Given the description of an element on the screen output the (x, y) to click on. 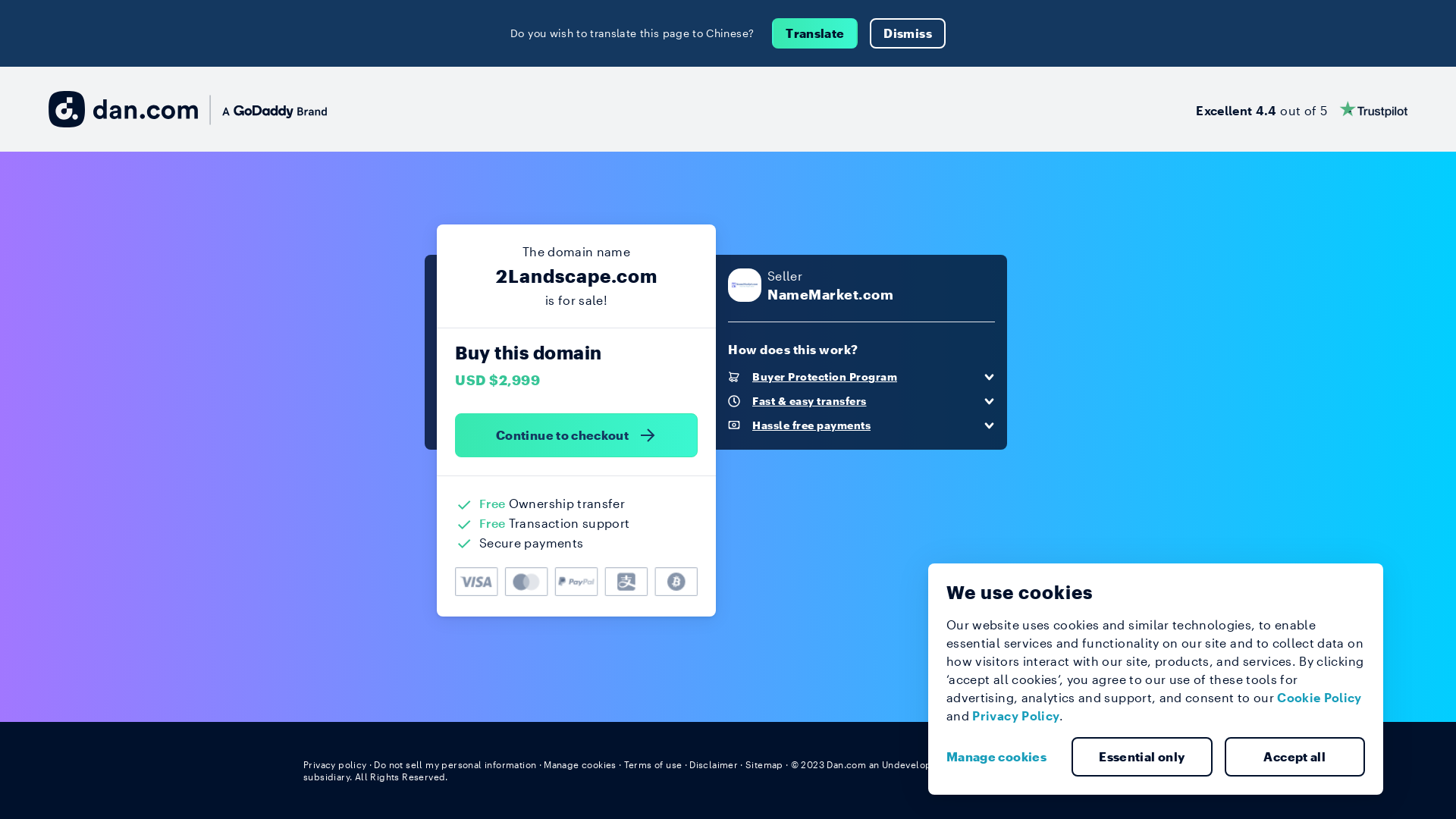
Privacy policy Element type: text (335, 764)
Manage cookies Element type: text (1002, 756)
Do not sell my personal information Element type: text (454, 764)
Sitemap Element type: text (764, 764)
Manage cookies Element type: text (579, 764)
Disclaimer Element type: text (713, 764)
English Element type: text (1124, 764)
Cookie Policy Element type: text (1319, 697)
Privacy Policy Element type: text (1015, 715)
Accept all Element type: text (1294, 756)
Dismiss Element type: text (906, 33)
Terms of use Element type: text (653, 764)
Continue to checkout
) Element type: text (576, 435)
Excellent 4.4 out of 5 Element type: text (1301, 109)
Essential only Element type: text (1141, 756)
Translate Element type: text (814, 33)
